Given the description of an element on the screen output the (x, y) to click on. 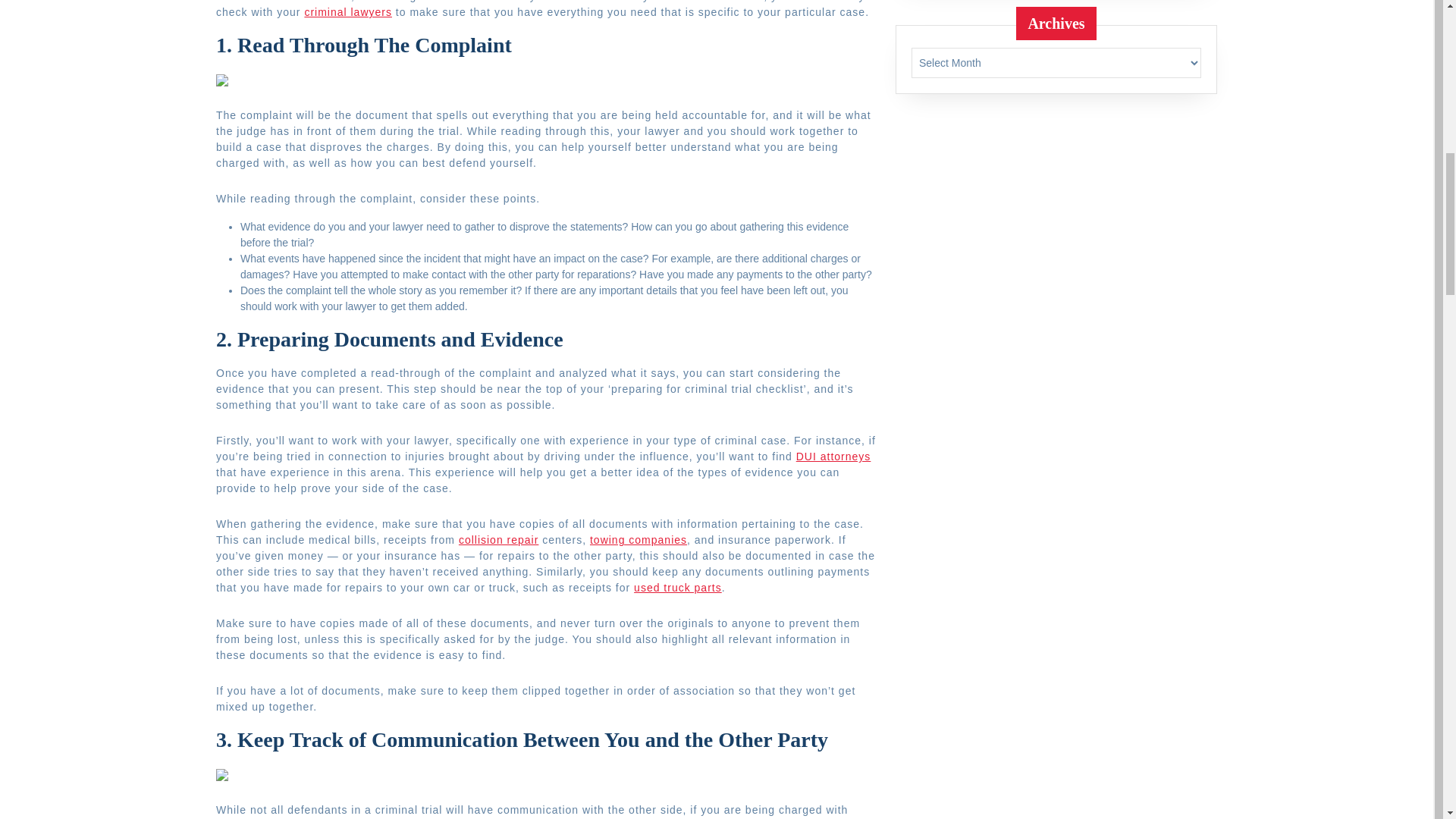
criminal lawyers (347, 11)
DUI attorneys (833, 456)
collision repair (498, 539)
used truck parts (677, 587)
towing companies (638, 539)
